Given the description of an element on the screen output the (x, y) to click on. 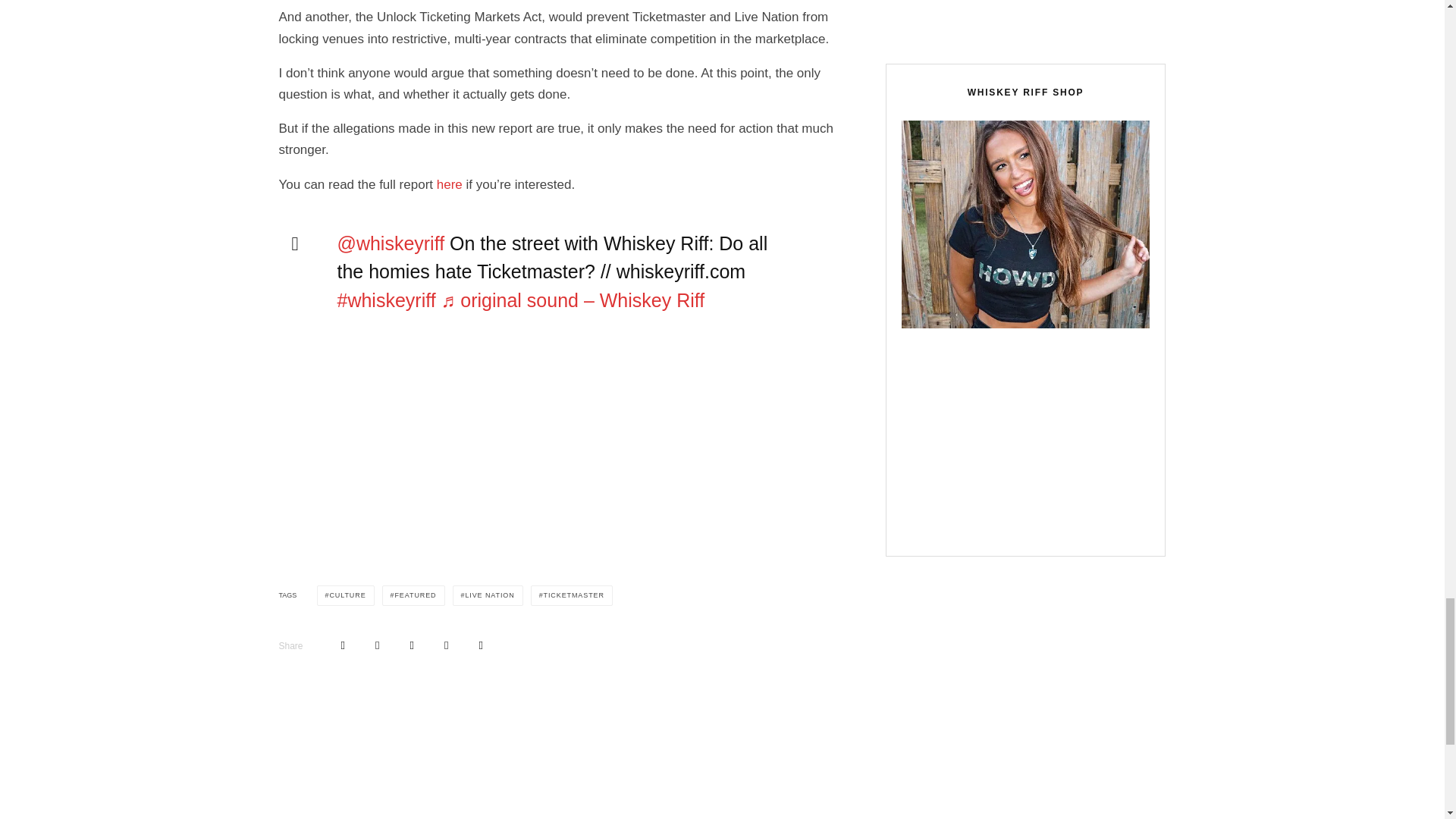
whiskeyriff (385, 300)
